Given the description of an element on the screen output the (x, y) to click on. 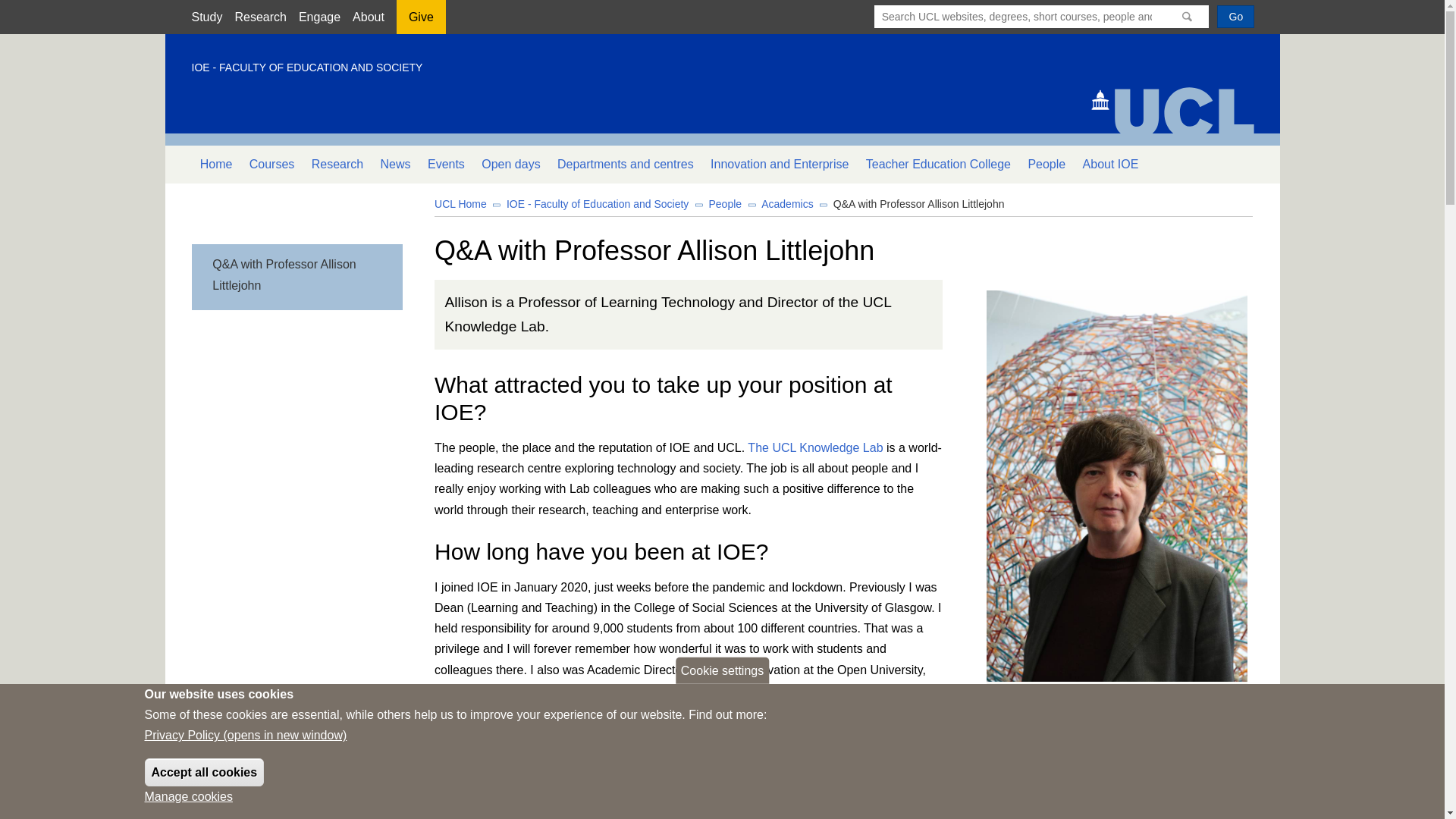
Teacher Education College (938, 164)
Go (1235, 15)
Engage (319, 16)
Academics (786, 203)
IOE - Faculty of Education and Society (597, 203)
Research (259, 16)
Innovation and Enterprise (779, 164)
Go (1235, 15)
Study (206, 16)
About IOE (1110, 164)
News (395, 164)
Go (1235, 15)
The UCL Knowledge Lab (815, 447)
Home (215, 164)
Research (337, 164)
